Given the description of an element on the screen output the (x, y) to click on. 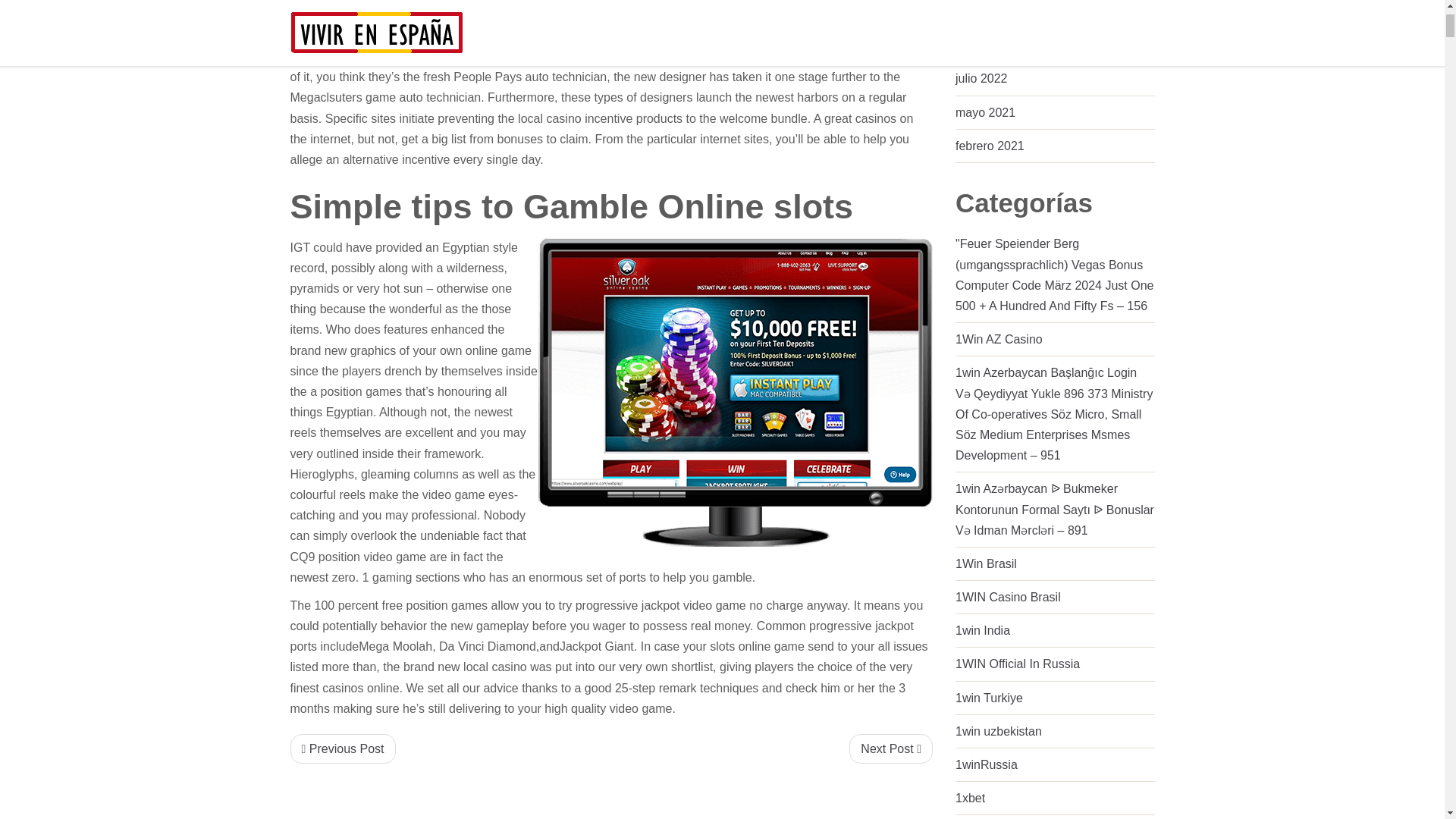
Previous Post (341, 748)
Next Post (890, 748)
